Given the description of an element on the screen output the (x, y) to click on. 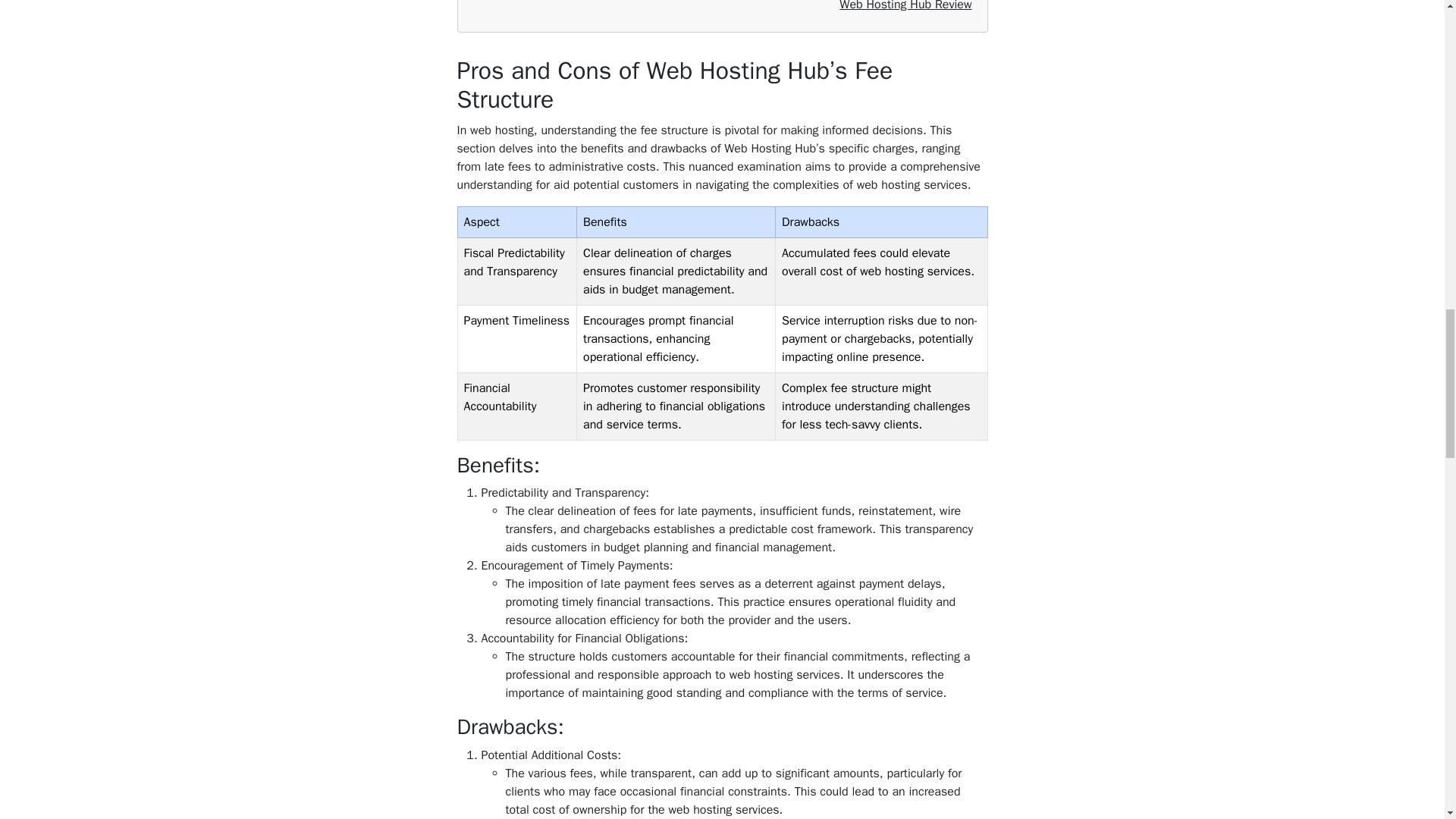
Web Hosting Hub Review (905, 6)
